Given the description of an element on the screen output the (x, y) to click on. 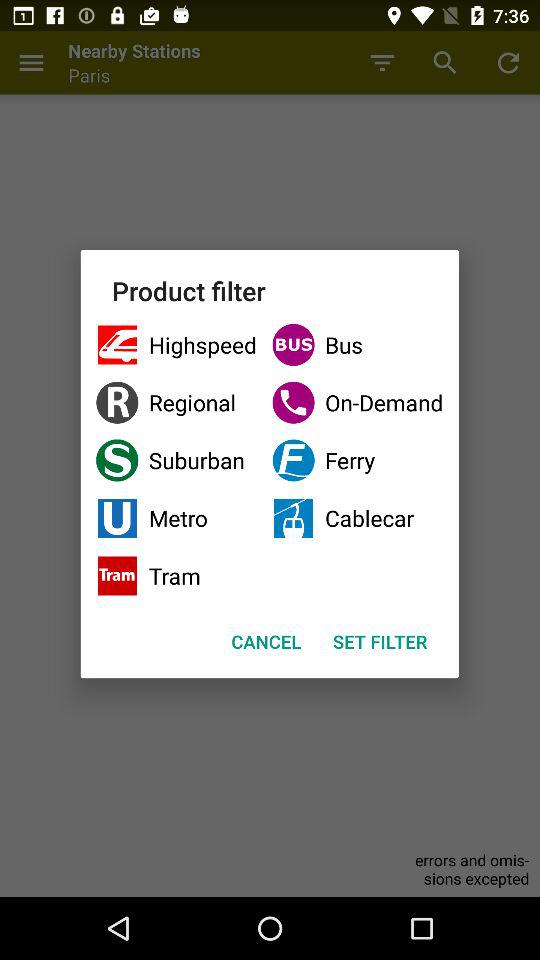
launch the on-demand (357, 402)
